Given the description of an element on the screen output the (x, y) to click on. 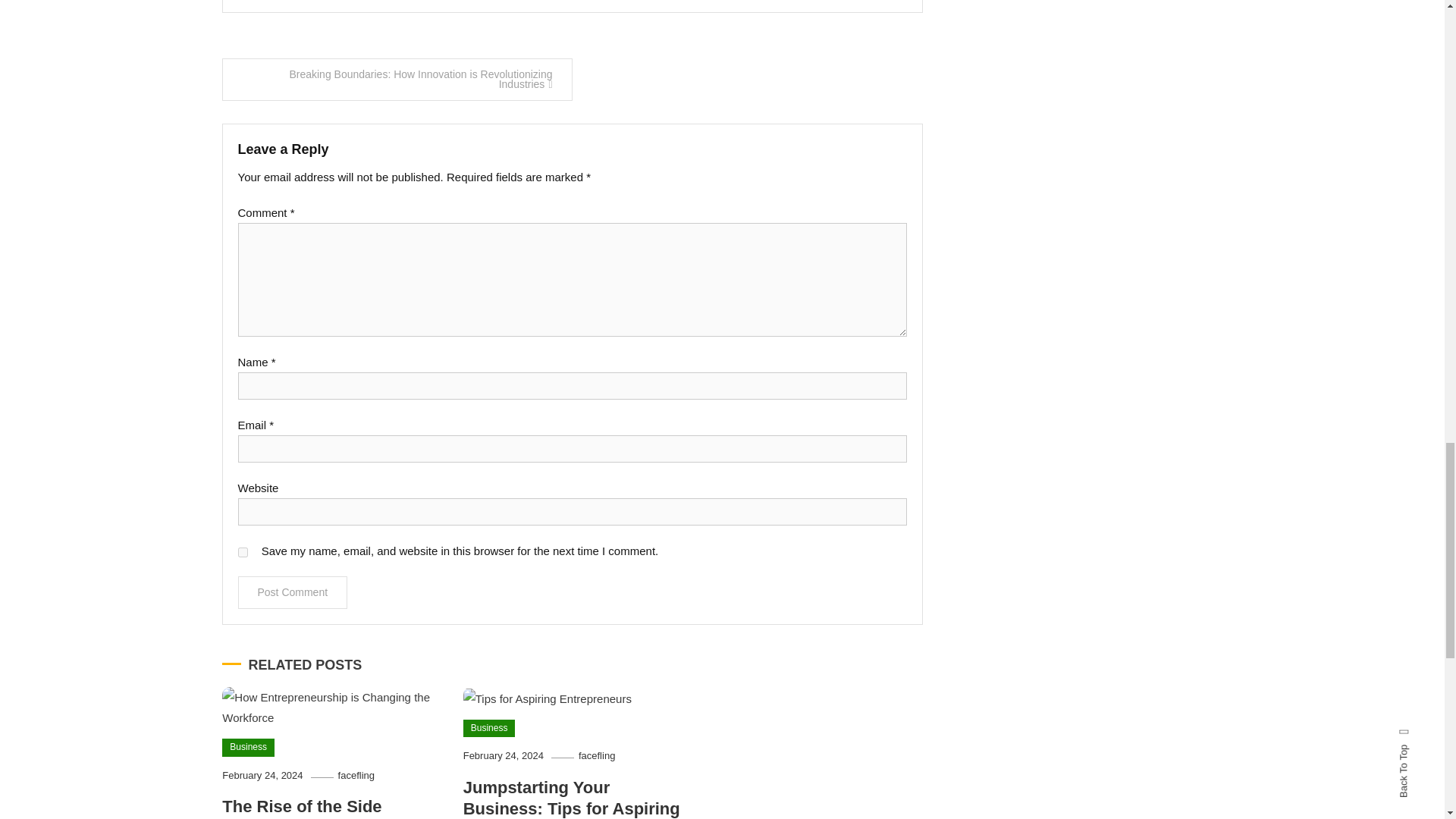
Jumpstarting Your Business: Tips for Aspiring Entrepreneurs (571, 798)
Post Comment (292, 592)
facefling (355, 775)
Post Comment (292, 592)
Business (248, 747)
February 24, 2024 (262, 775)
Business (489, 728)
February 24, 2024 (503, 755)
facefling (596, 755)
yes (242, 552)
